Given the description of an element on the screen output the (x, y) to click on. 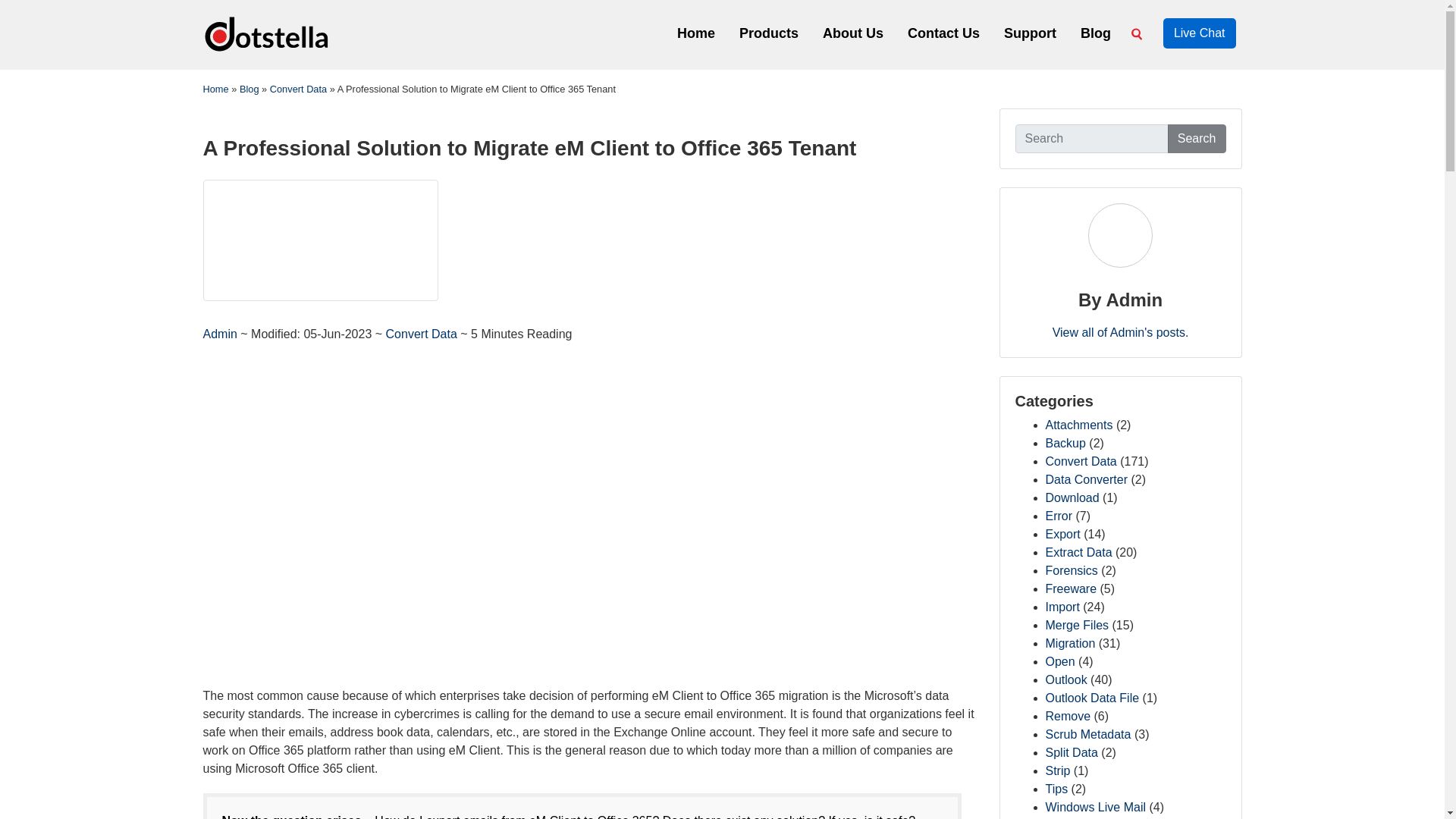
Home (695, 32)
Live Chat (1199, 33)
Remove (1067, 716)
Admin (222, 333)
Blog (249, 89)
Migration (1069, 643)
Error (1058, 515)
Data Converter (1085, 479)
Outlook (1065, 679)
Open (1059, 661)
